Given the description of an element on the screen output the (x, y) to click on. 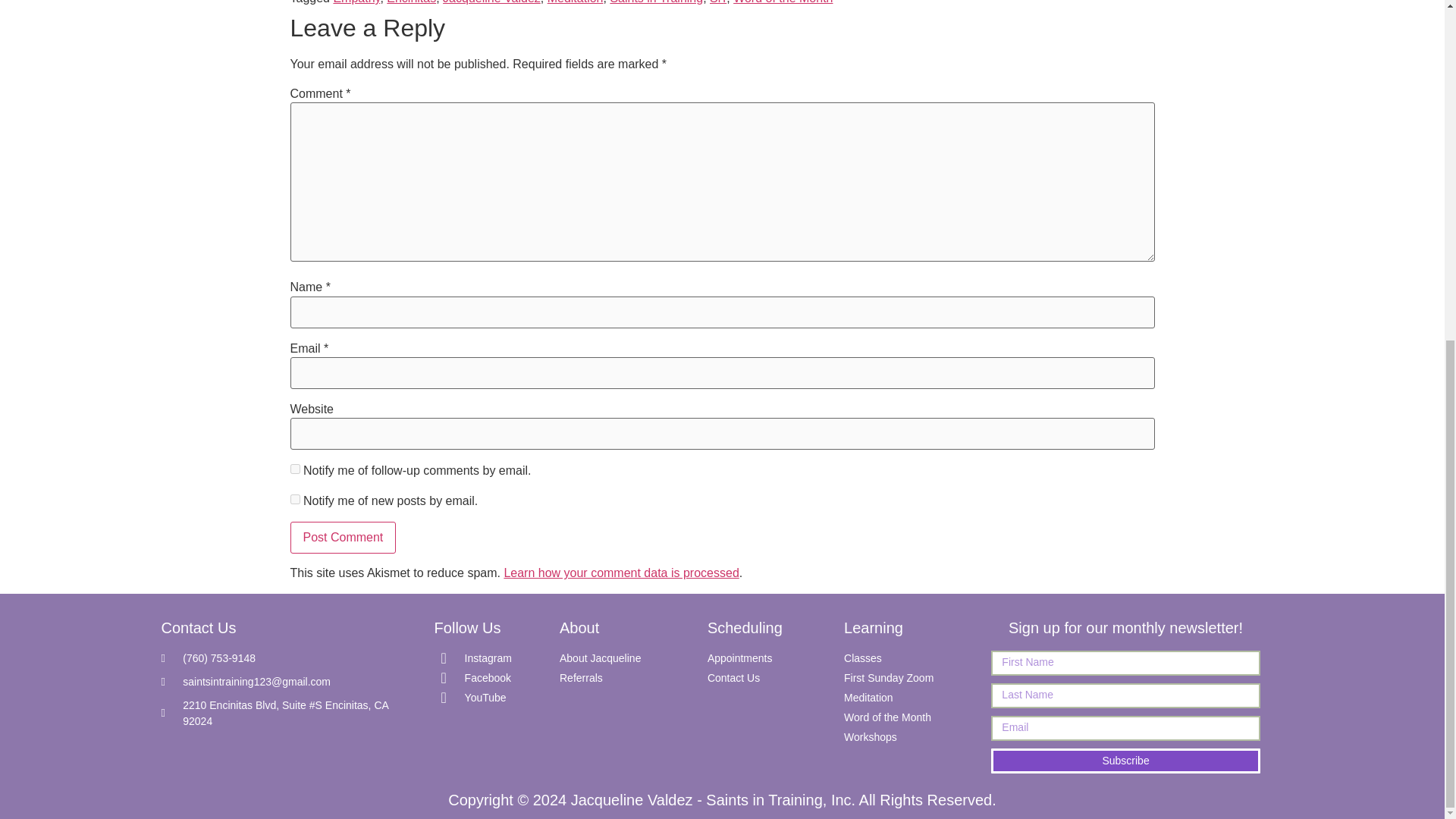
Post Comment (342, 537)
subscribe (294, 499)
subscribe (294, 469)
